Given the description of an element on the screen output the (x, y) to click on. 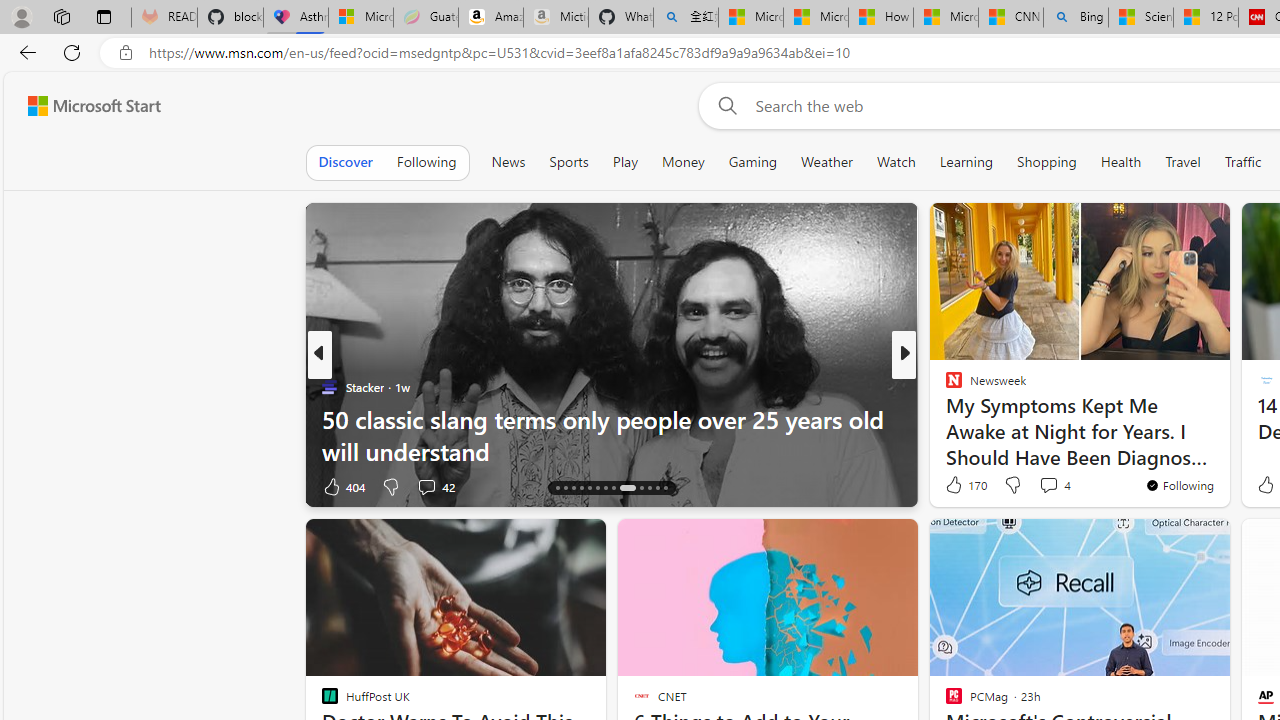
AutomationID: tab-25 (656, 487)
CNN - MSN (1011, 17)
View comments 42 Comment (426, 485)
Pocket-lint (944, 418)
404 Like (342, 486)
